Given the description of an element on the screen output the (x, y) to click on. 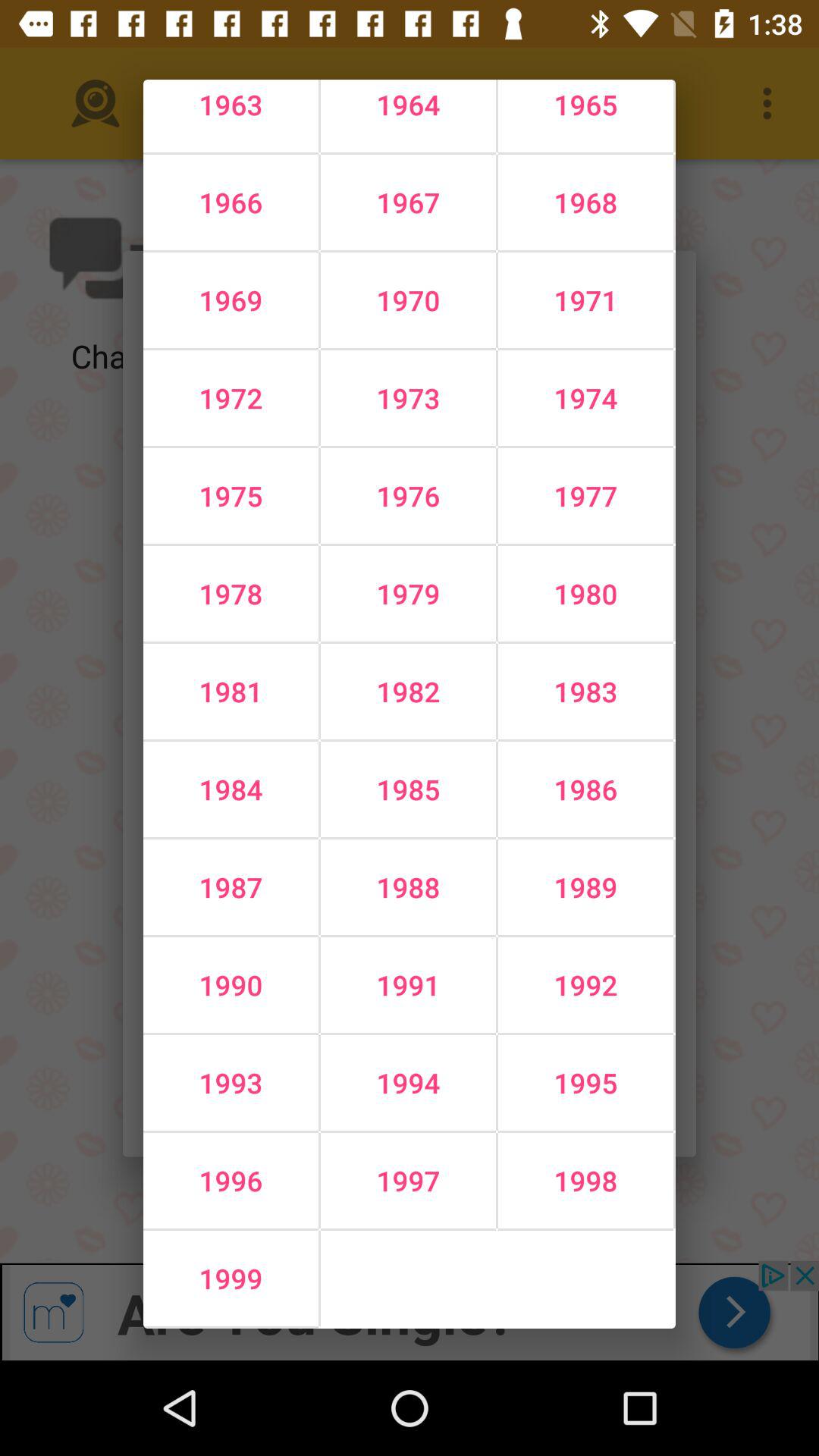
jump until the 1981 (230, 691)
